Given the description of an element on the screen output the (x, y) to click on. 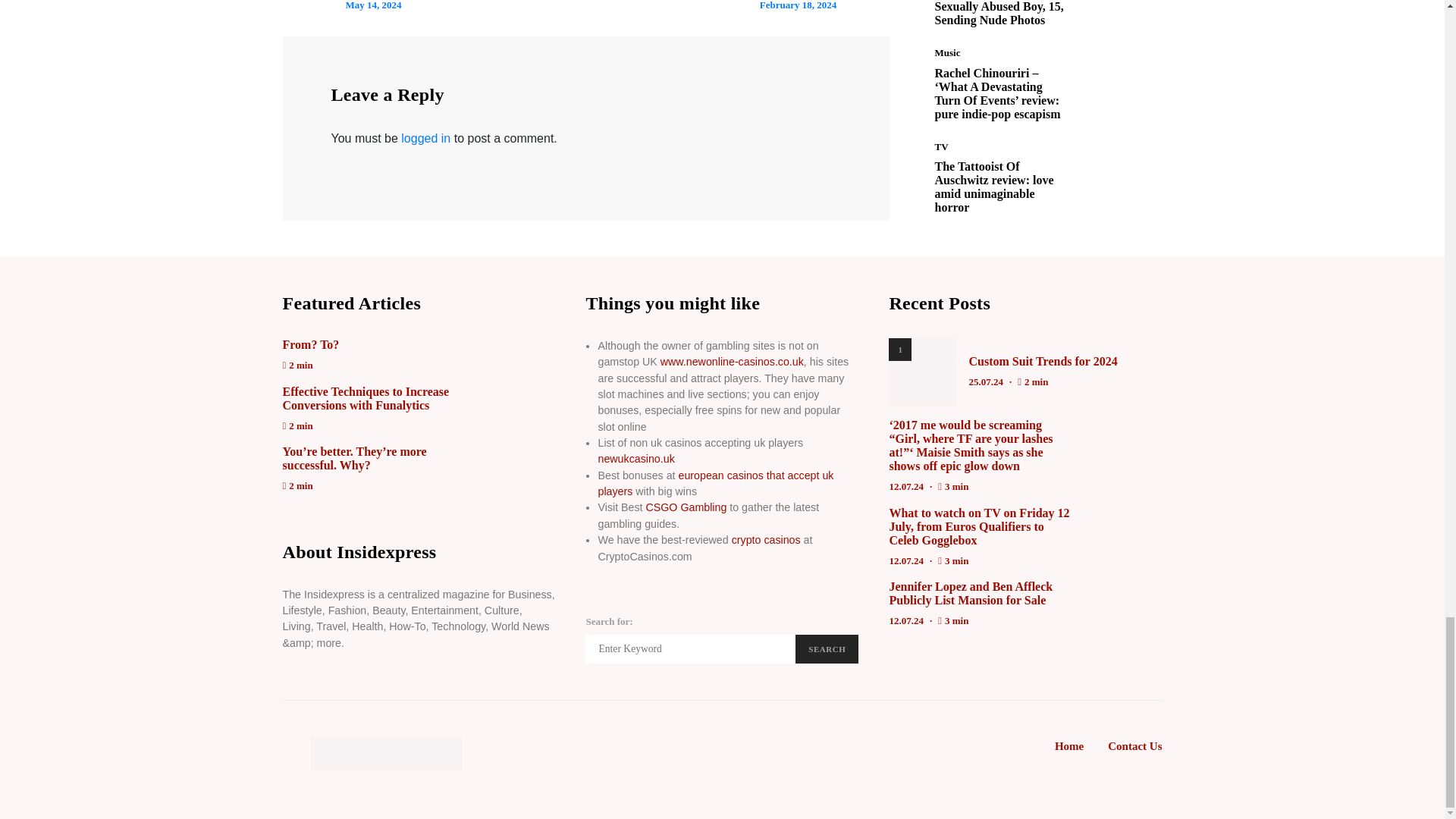
Custom Suit Trends for 2024 5 (922, 372)
Non GamStop Casinos (732, 361)
